Given the description of an element on the screen output the (x, y) to click on. 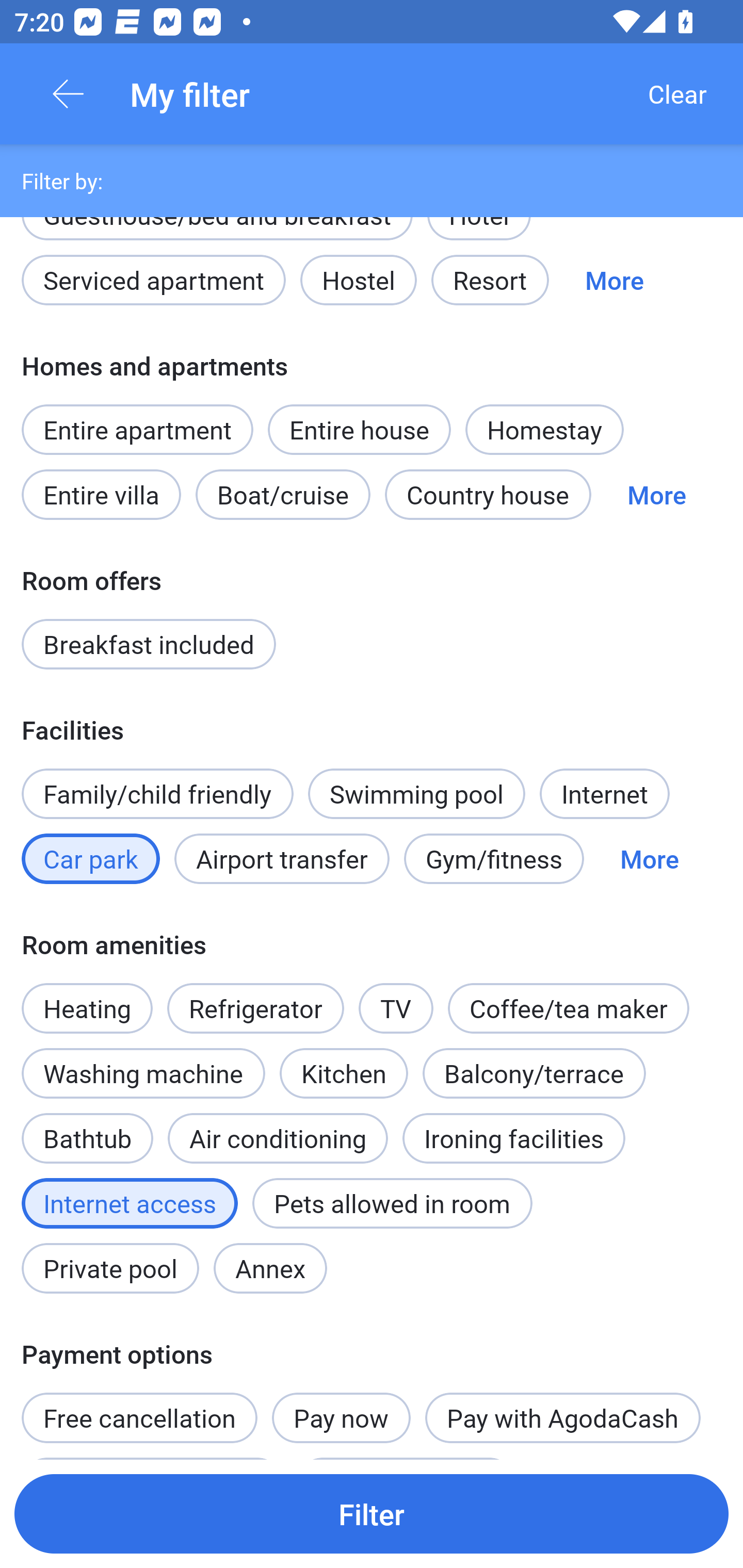
Clear (676, 93)
Serviced apartment (153, 279)
Hostel (358, 279)
Resort (490, 279)
More (614, 279)
Entire apartment (137, 429)
Entire house (359, 429)
Homestay (544, 429)
Entire villa (101, 494)
Boat/cruise (282, 494)
Country house (487, 494)
More (656, 494)
Breakfast included (148, 643)
Family/child friendly (157, 794)
Swimming pool (416, 794)
Internet (604, 794)
Airport transfer (281, 858)
Gym/fitness (493, 858)
More (649, 858)
Heating (87, 997)
Refrigerator (255, 1008)
TV (395, 1008)
Coffee/tea maker (568, 1008)
Washing machine (143, 1073)
Kitchen (343, 1073)
Balcony/terrace (533, 1073)
Bathtub (87, 1127)
Air conditioning (277, 1138)
Ironing facilities (513, 1138)
Pets allowed in room (392, 1203)
Private pool (110, 1268)
Annex (269, 1268)
Free cancellation (139, 1407)
Pay now (340, 1417)
Pay with AgodaCash (562, 1417)
Filter (371, 1513)
